Given the description of an element on the screen output the (x, y) to click on. 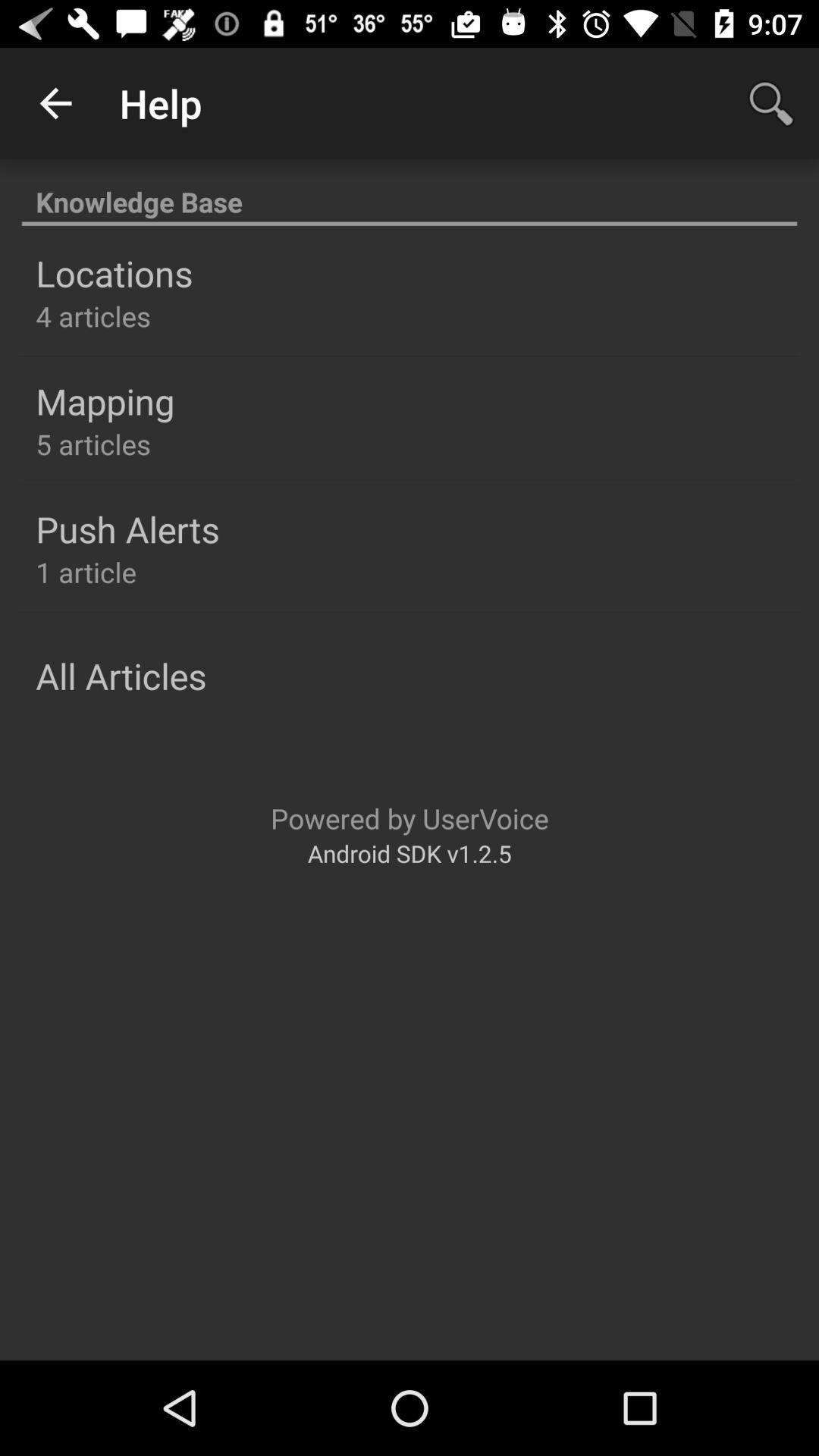
choose 4 articles item (92, 315)
